Given the description of an element on the screen output the (x, y) to click on. 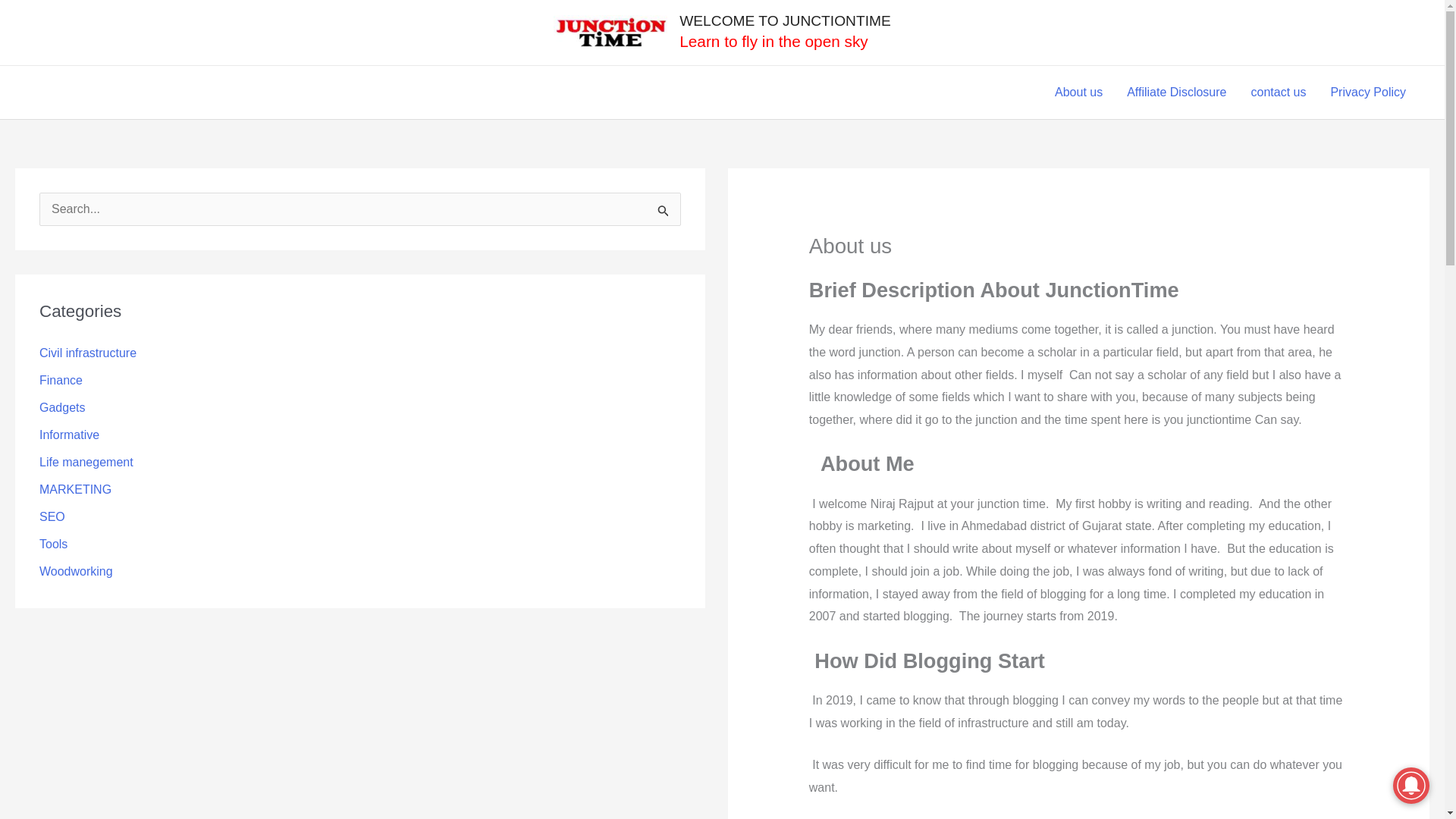
Gadgets (61, 407)
Privacy Policy (1367, 92)
Finance (60, 379)
Tools (52, 543)
MARKETING (75, 489)
SEO (52, 516)
Woodworking (76, 571)
Informative (69, 434)
Affiliate Disclosure (1177, 92)
About us (1078, 92)
